Given the description of an element on the screen output the (x, y) to click on. 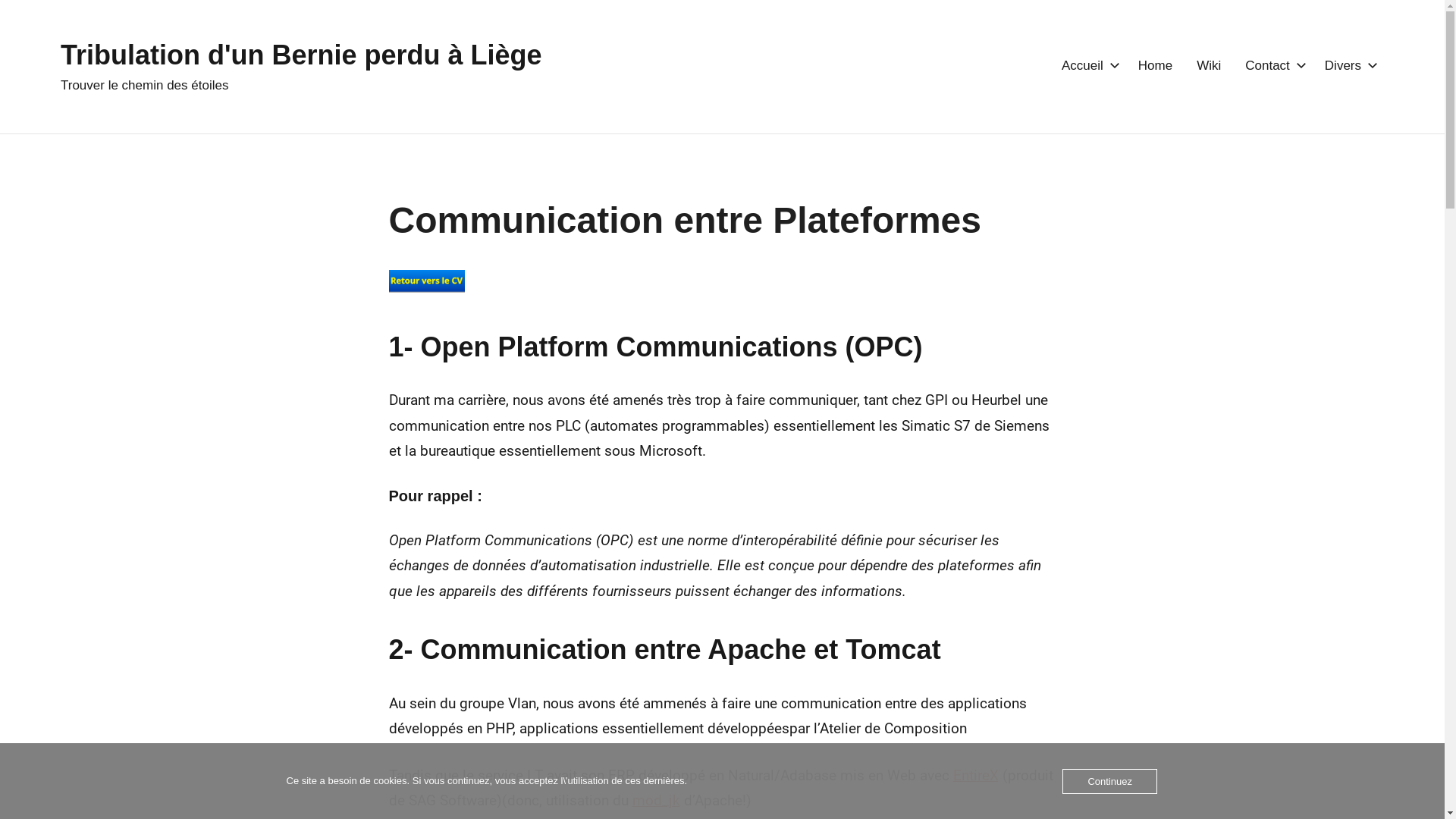
retour_vers_cv Element type: hover (426, 280)
Contact Element type: text (1272, 66)
EntireX Element type: text (974, 775)
Continuez Element type: text (1109, 780)
Divers Element type: text (1347, 66)
Home Element type: text (1155, 66)
Accueil Element type: text (1087, 66)
Wiki Element type: text (1208, 66)
mod_jk Element type: text (656, 800)
